Given the description of an element on the screen output the (x, y) to click on. 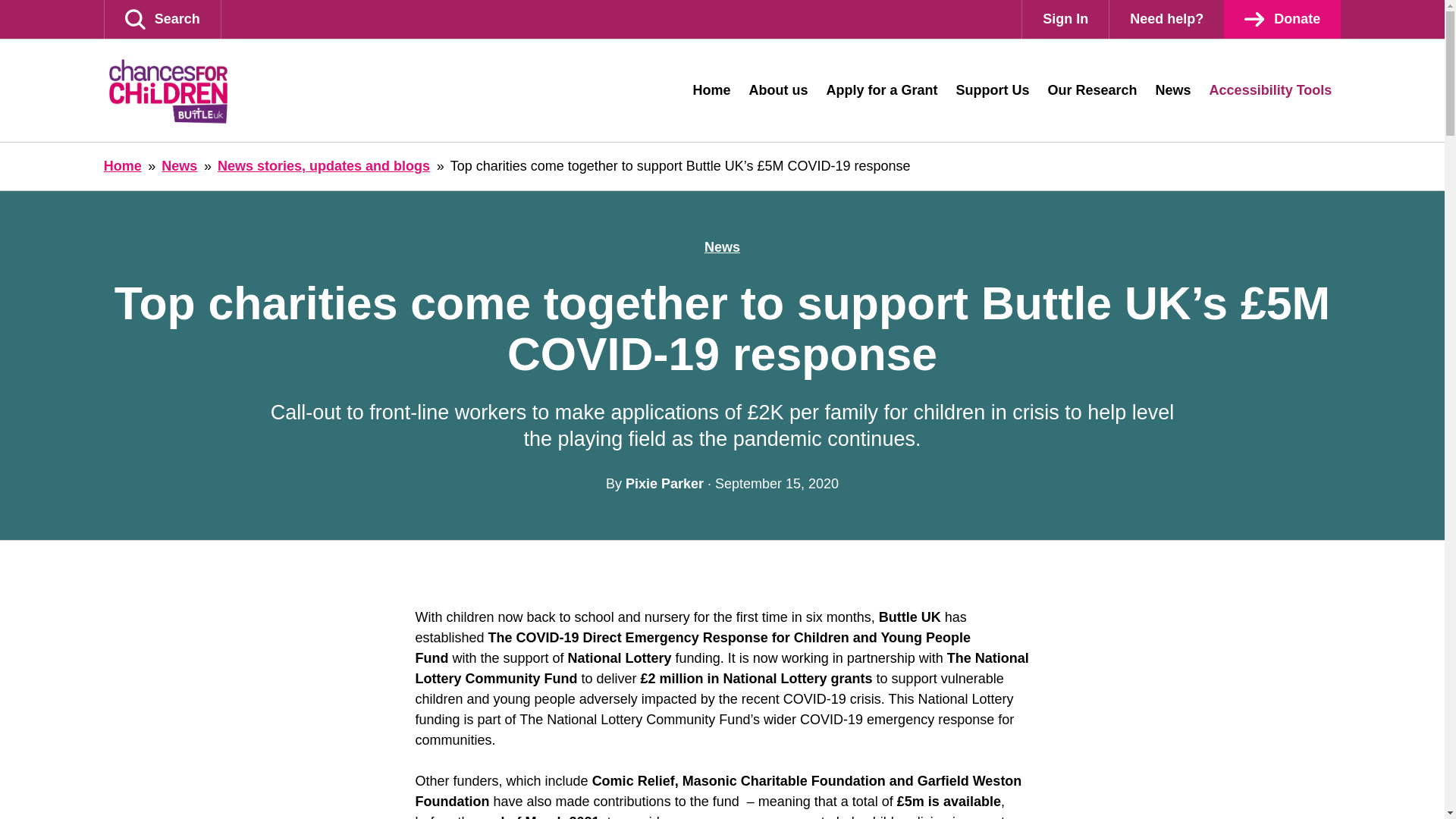
Search (162, 19)
News (178, 165)
Support Us (992, 90)
Our Research (1093, 90)
Home (122, 165)
Need help? (1166, 19)
Sign In (1065, 19)
Apply for a Grant (881, 90)
Accessibility Tools (1269, 90)
News (721, 246)
